Given the description of an element on the screen output the (x, y) to click on. 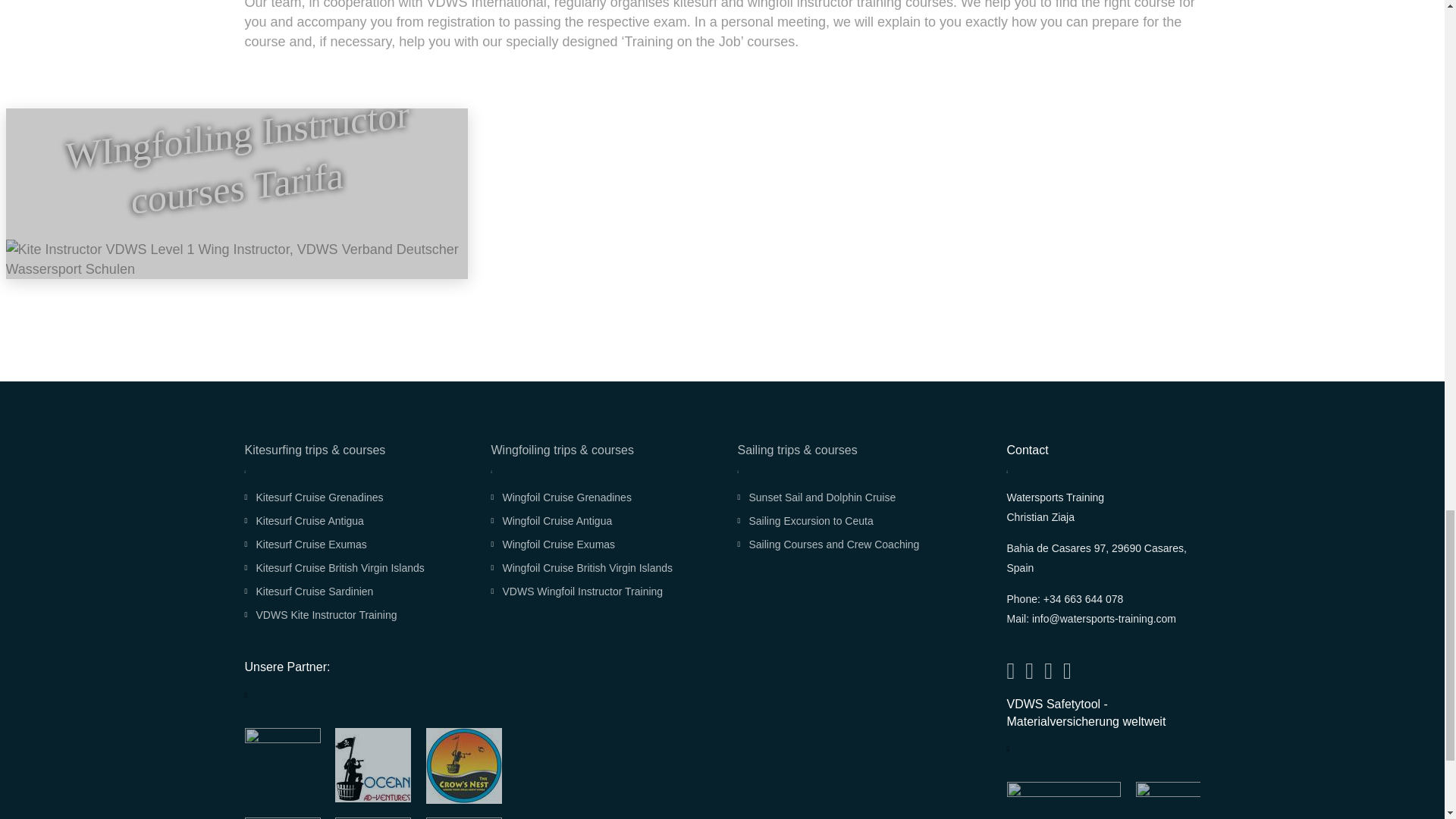
Kitesurf Cruise Exumas (305, 544)
Kitesurf Cruise Grenadines (313, 498)
Wingfoil Cruise Grenadines (560, 498)
Sailing Excursion to Ceuta (804, 521)
Kitesurf Cruise Sardinien (308, 591)
Kitesurf Cruise Grenadines (313, 498)
Wingfoil Cruise Grenadines (560, 498)
Kitesurf Cruise British Virgin Islands (333, 568)
VDWS Wingfoil Instructor Training (576, 591)
Wingfoil Cruise British Virgin Islands (581, 568)
